Given the description of an element on the screen output the (x, y) to click on. 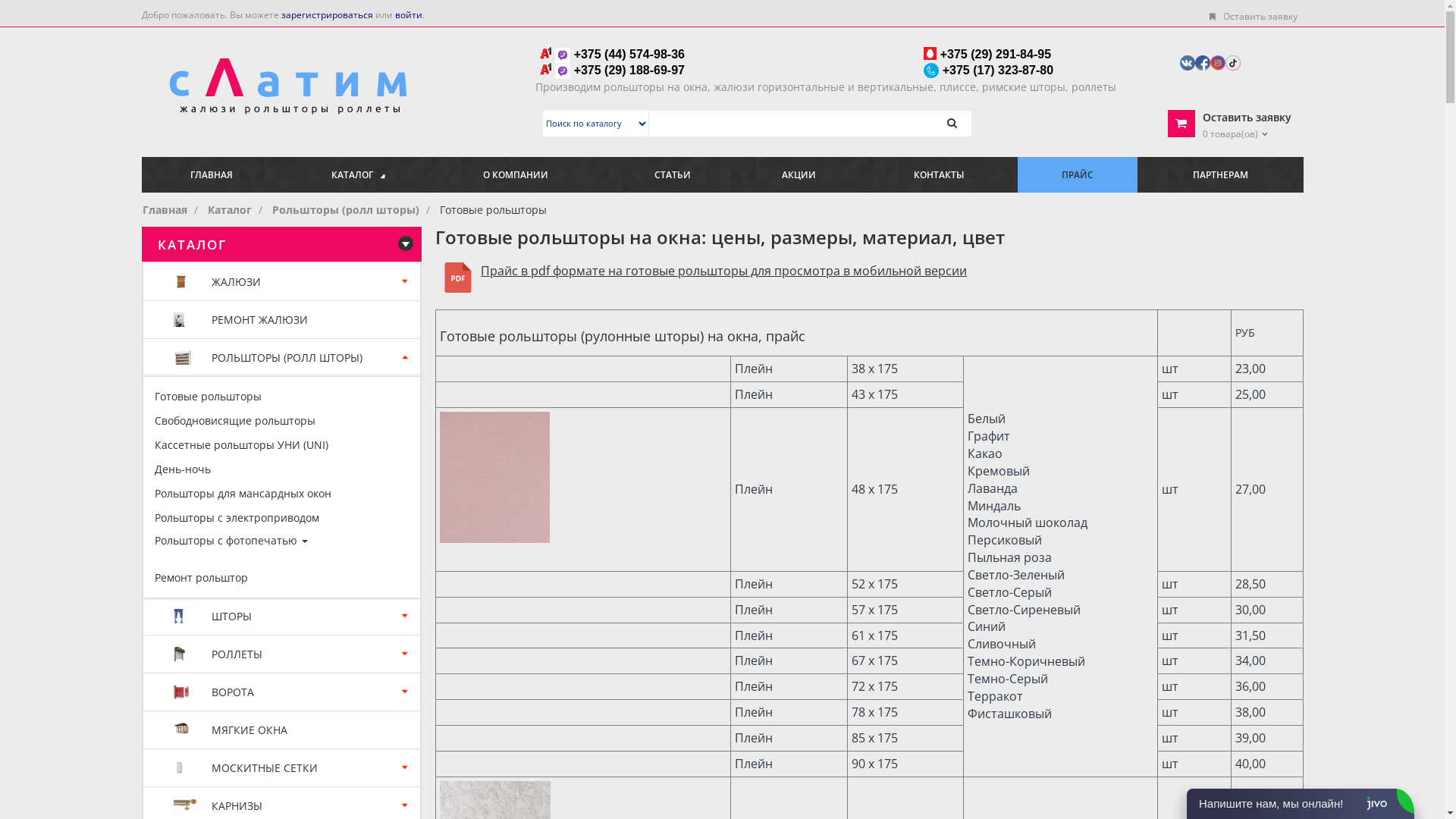
Slatim vk Element type: hover (1187, 62)
Slatim instagram Element type: hover (1217, 62)
Slatim facebook Element type: hover (1202, 62)
